Given the description of an element on the screen output the (x, y) to click on. 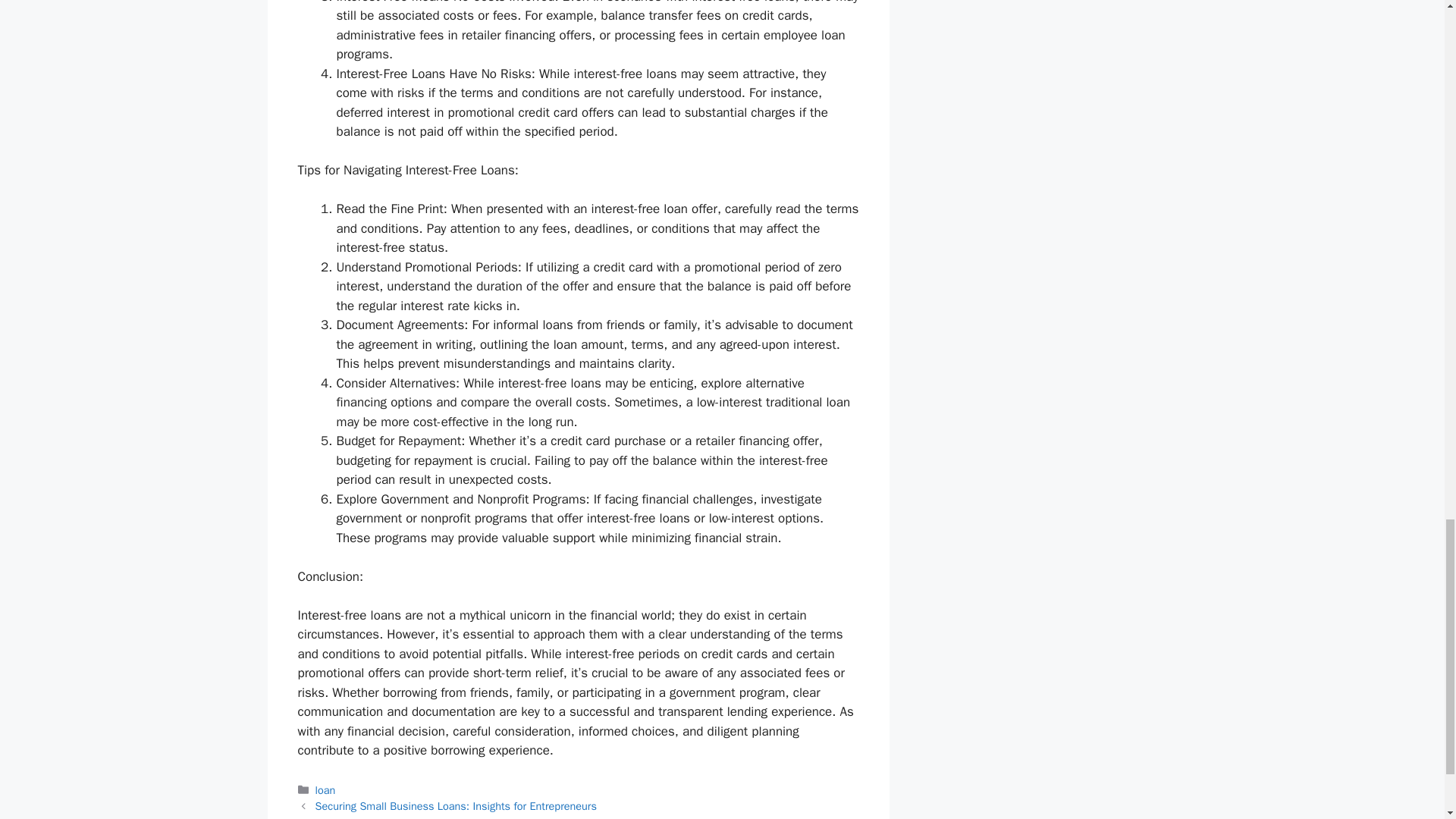
loan (325, 789)
Peer-to-Peer Lending: A Modern Approach to Borrowing (445, 817)
Securing Small Business Loans: Insights for Entrepreneurs (455, 806)
